Given the description of an element on the screen output the (x, y) to click on. 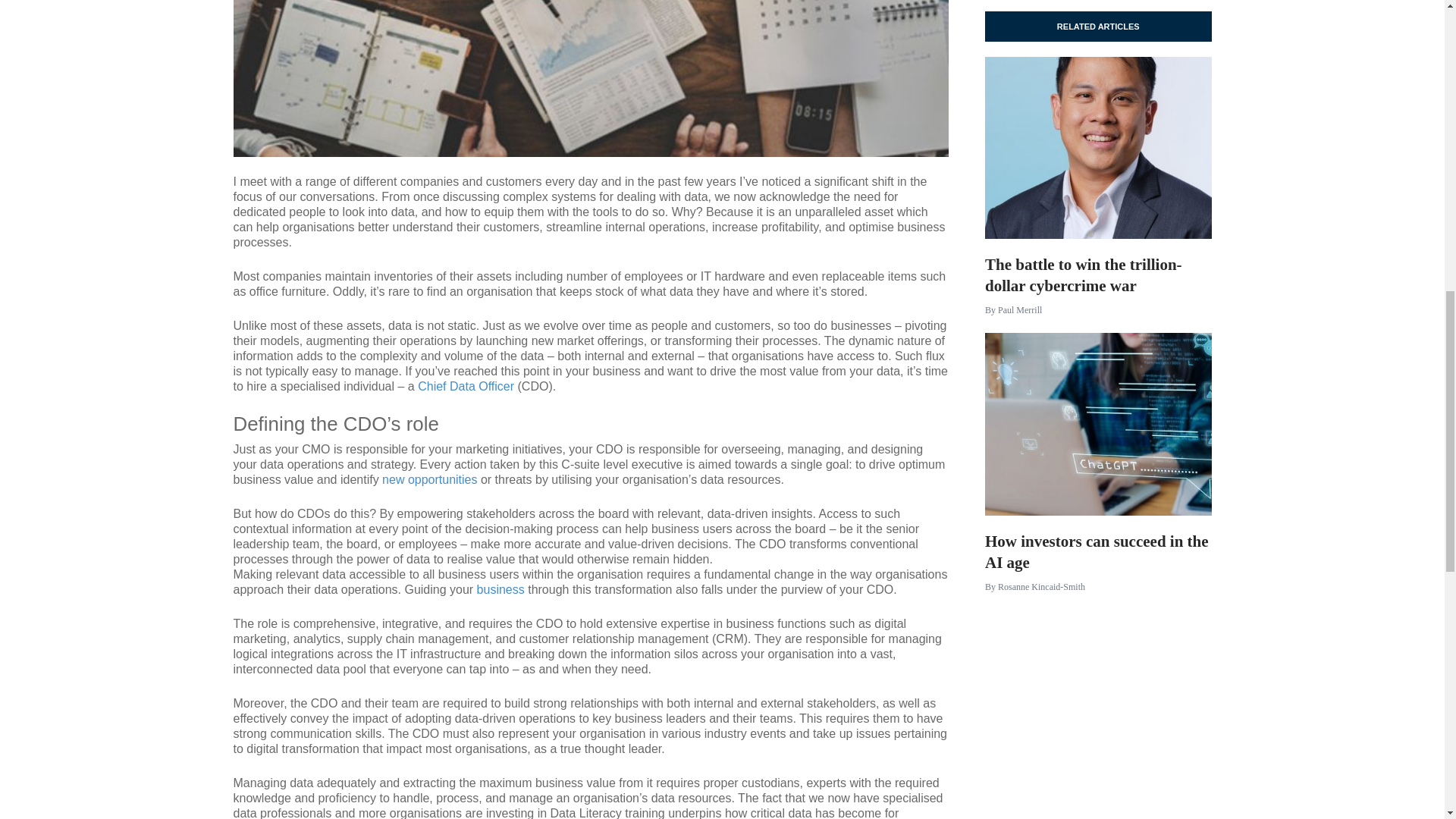
By Rosanne Kincaid-Smith (1034, 586)
How investors can succeed in the AI age (1098, 608)
By Paul Merrill (1013, 309)
How investors can succeed in the AI age (1098, 422)
The battle to win the trillion-dollar cybercrime war (1098, 331)
new opportunities (429, 479)
Chief Data Officer (465, 386)
The battle to win the trillion-dollar cybercrime war (1098, 146)
The battle to win the trillion-dollar cybercrime war (1098, 331)
How investors can succeed in the AI age (1098, 608)
